Given the description of an element on the screen output the (x, y) to click on. 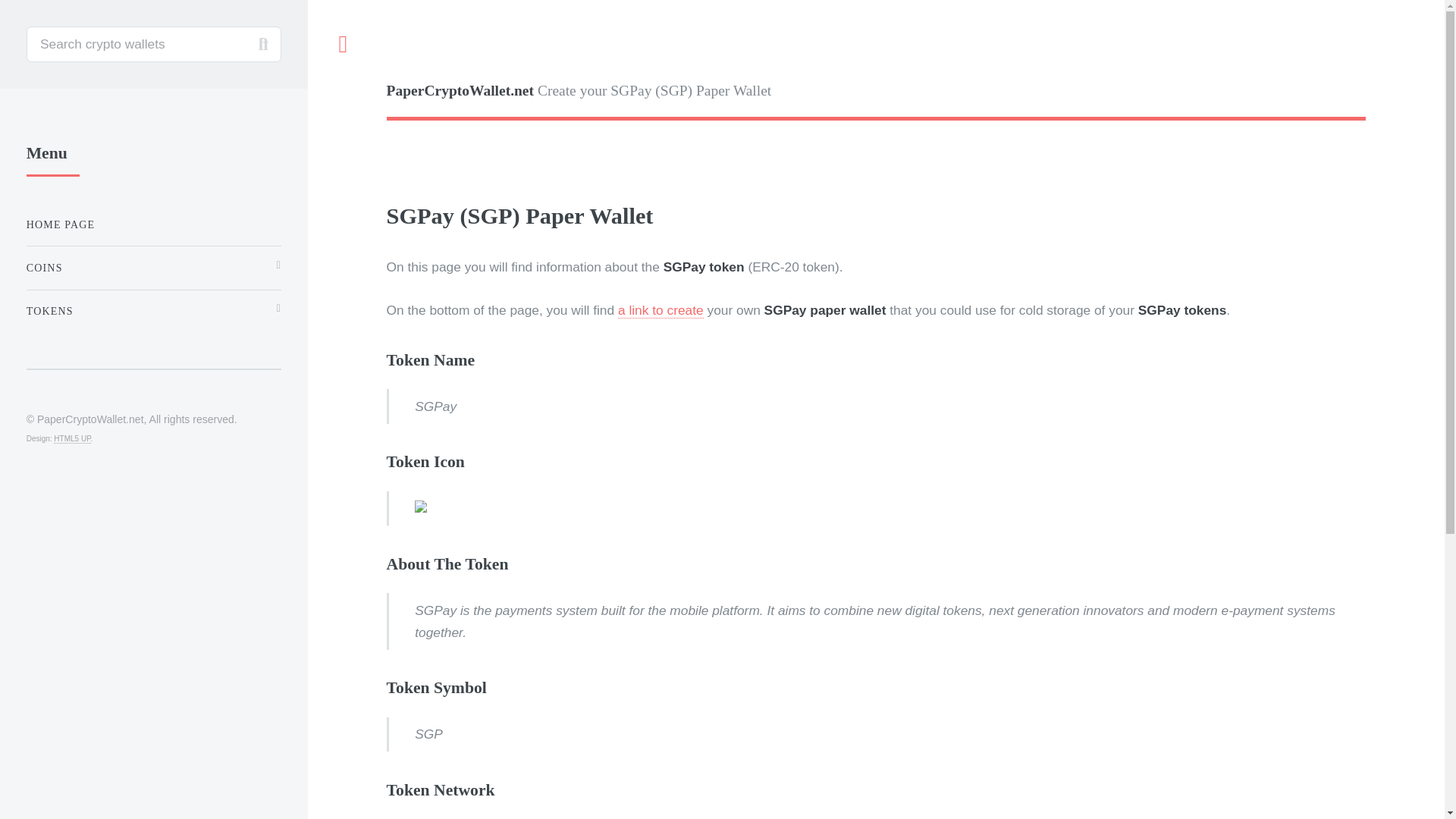
a link to create (660, 310)
HOME PAGE (153, 224)
HTML5 UP (71, 438)
